Given the description of an element on the screen output the (x, y) to click on. 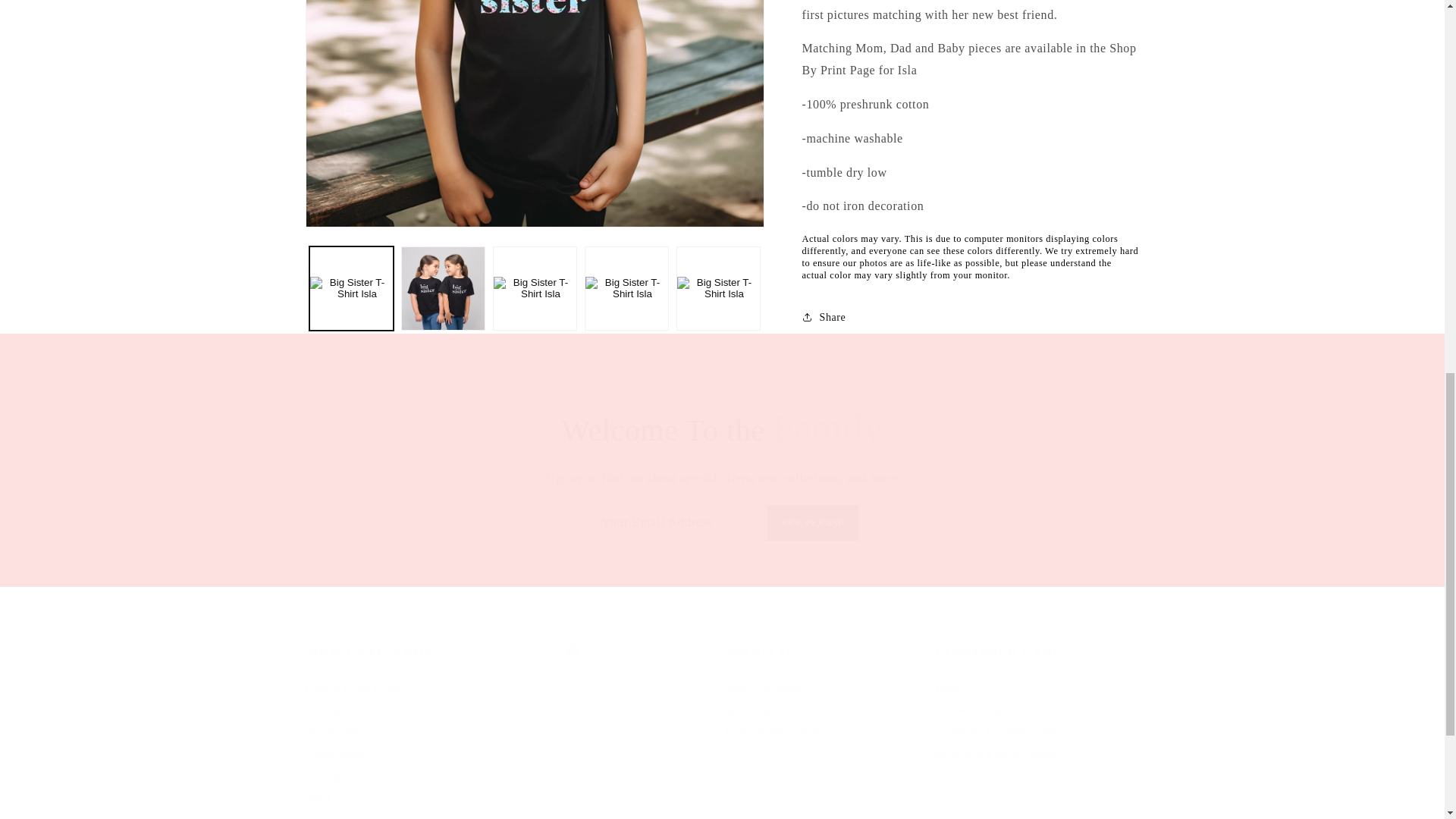
Welcome To the Family (826, 731)
